Given the description of an element on the screen output the (x, y) to click on. 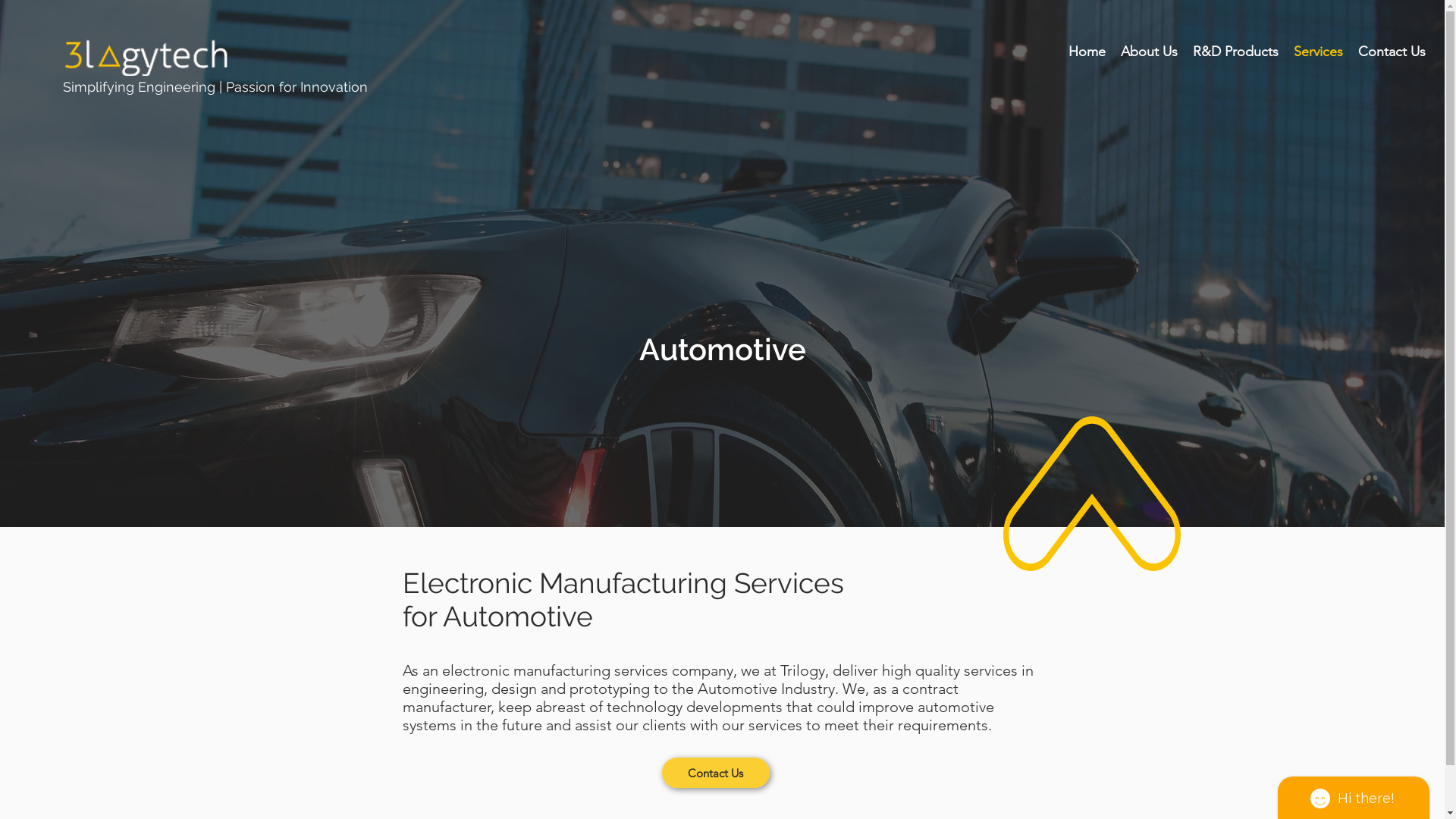
Home Element type: text (1086, 51)
Contact Us Element type: text (1391, 51)
R&D Products Element type: text (1235, 51)
Contact Us Element type: text (714, 772)
About Us Element type: text (1149, 51)
Services Element type: text (1318, 51)
Simplifying Engineering | Passion for Innovation  Element type: text (216, 86)
